Given the description of an element on the screen output the (x, y) to click on. 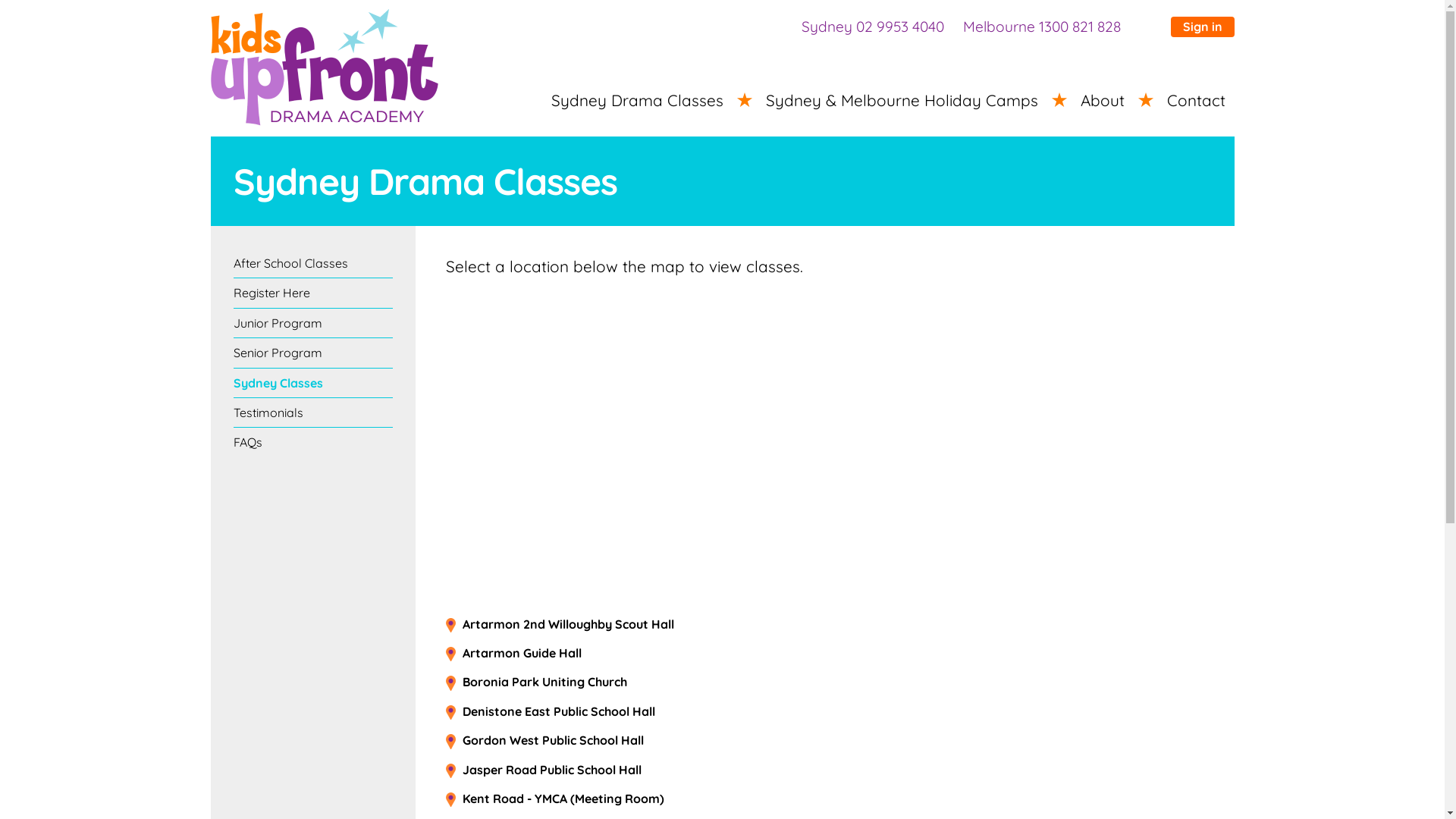
Contact Element type: text (1195, 100)
About Element type: text (1101, 100)
After School Classes Element type: text (312, 263)
Register Here Element type: text (312, 292)
Sign in Element type: text (1202, 26)
FAQs Element type: text (312, 441)
Sydney Classes Element type: text (312, 383)
Testimonials Element type: text (312, 412)
Sydney Drama Classes Element type: text (636, 100)
Junior Program Element type: text (312, 323)
Sydney & Melbourne Holiday Camps Element type: text (901, 100)
Senior Program Element type: text (312, 352)
